Given the description of an element on the screen output the (x, y) to click on. 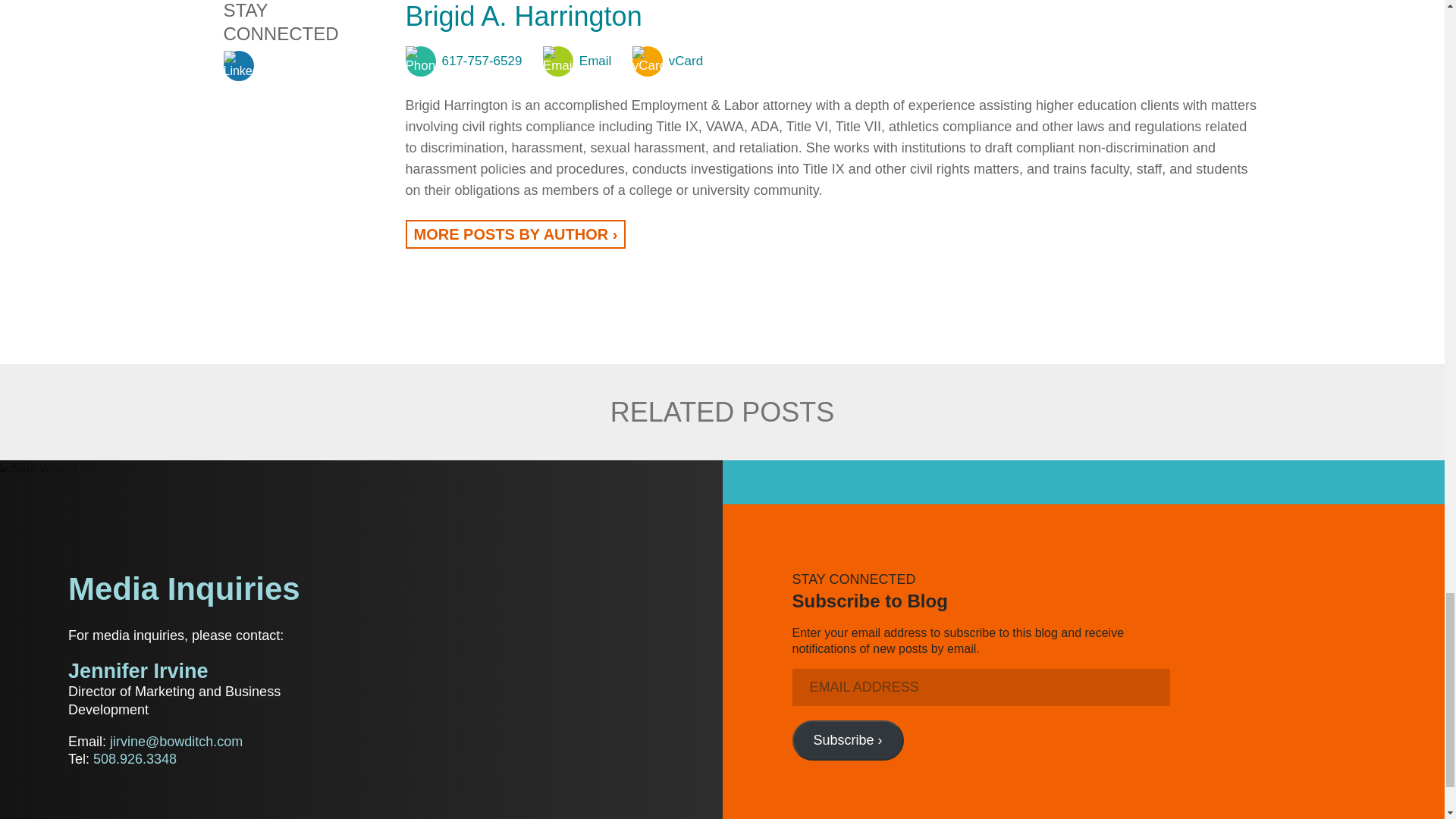
Email (577, 60)
Brigid A. Harrington (523, 15)
617-757-6529 (462, 60)
vCard (667, 60)
